Given the description of an element on the screen output the (x, y) to click on. 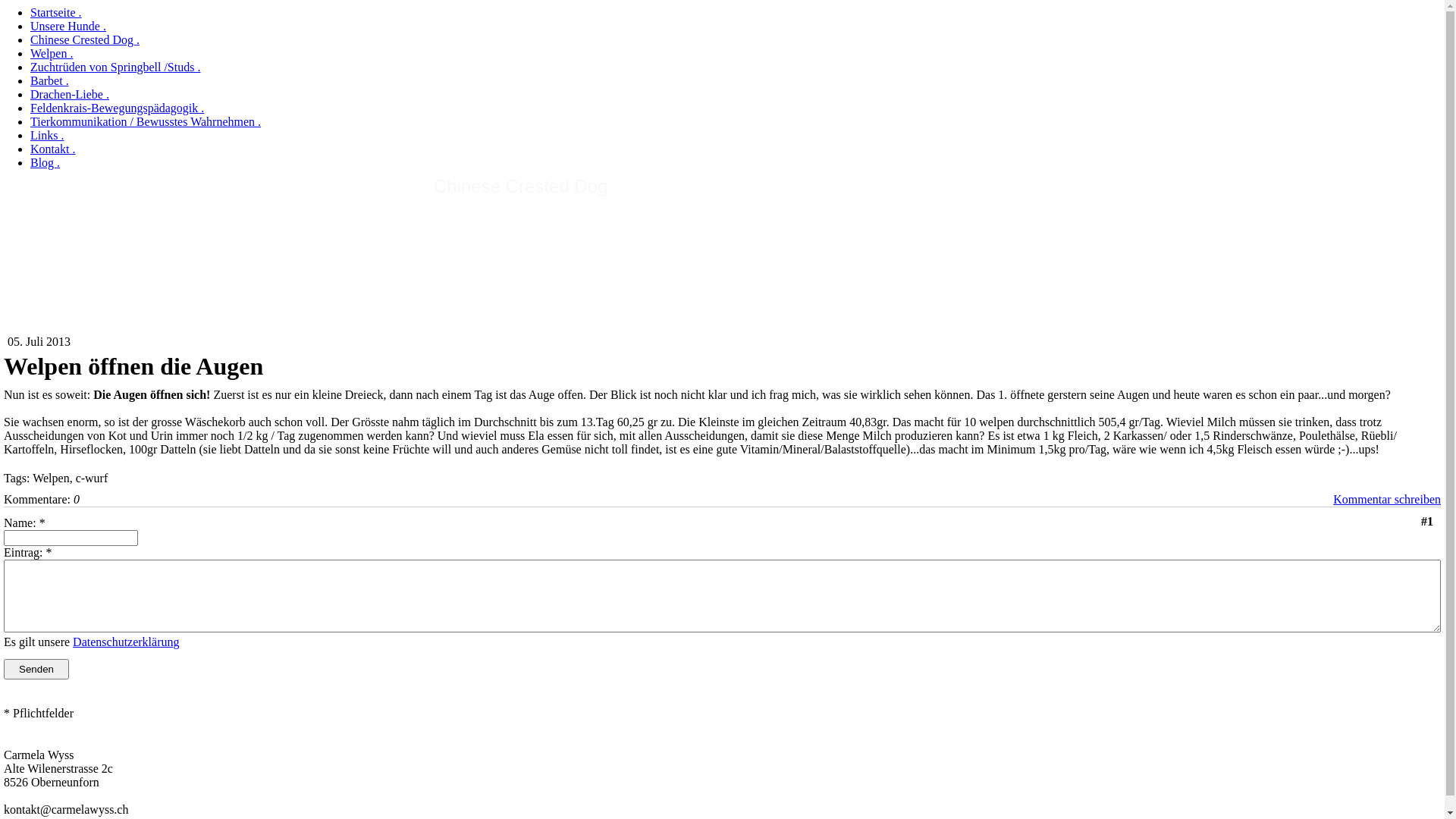
Drachen-Liebe . Element type: text (69, 93)
Blog . Element type: text (44, 162)
Welpen . Element type: text (51, 53)
Kontakt . Element type: text (52, 148)
Tierkommunikation / Bewusstes Wahrnehmen . Element type: text (145, 121)
Barbet . Element type: text (49, 80)
Chinese Crested Dog . Element type: text (84, 39)
Unsere Hunde . Element type: text (68, 25)
Kommentar schreiben Element type: text (1386, 498)
Links . Element type: text (46, 134)
Startseite . Element type: text (55, 12)
Senden Element type: text (36, 668)
